Given the description of an element on the screen output the (x, y) to click on. 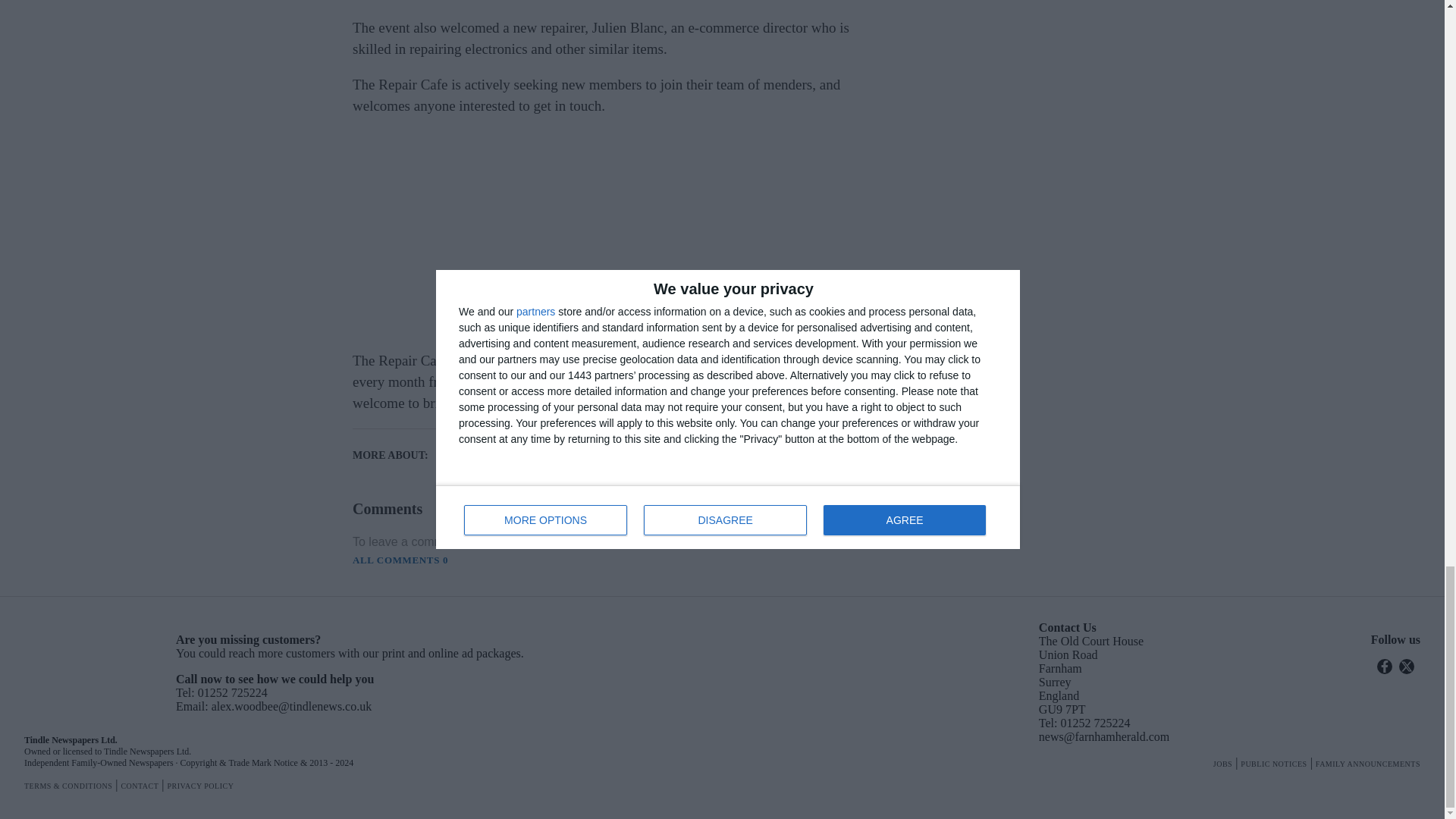
LOGIN (654, 542)
Haslemere (502, 455)
